Given the description of an element on the screen output the (x, y) to click on. 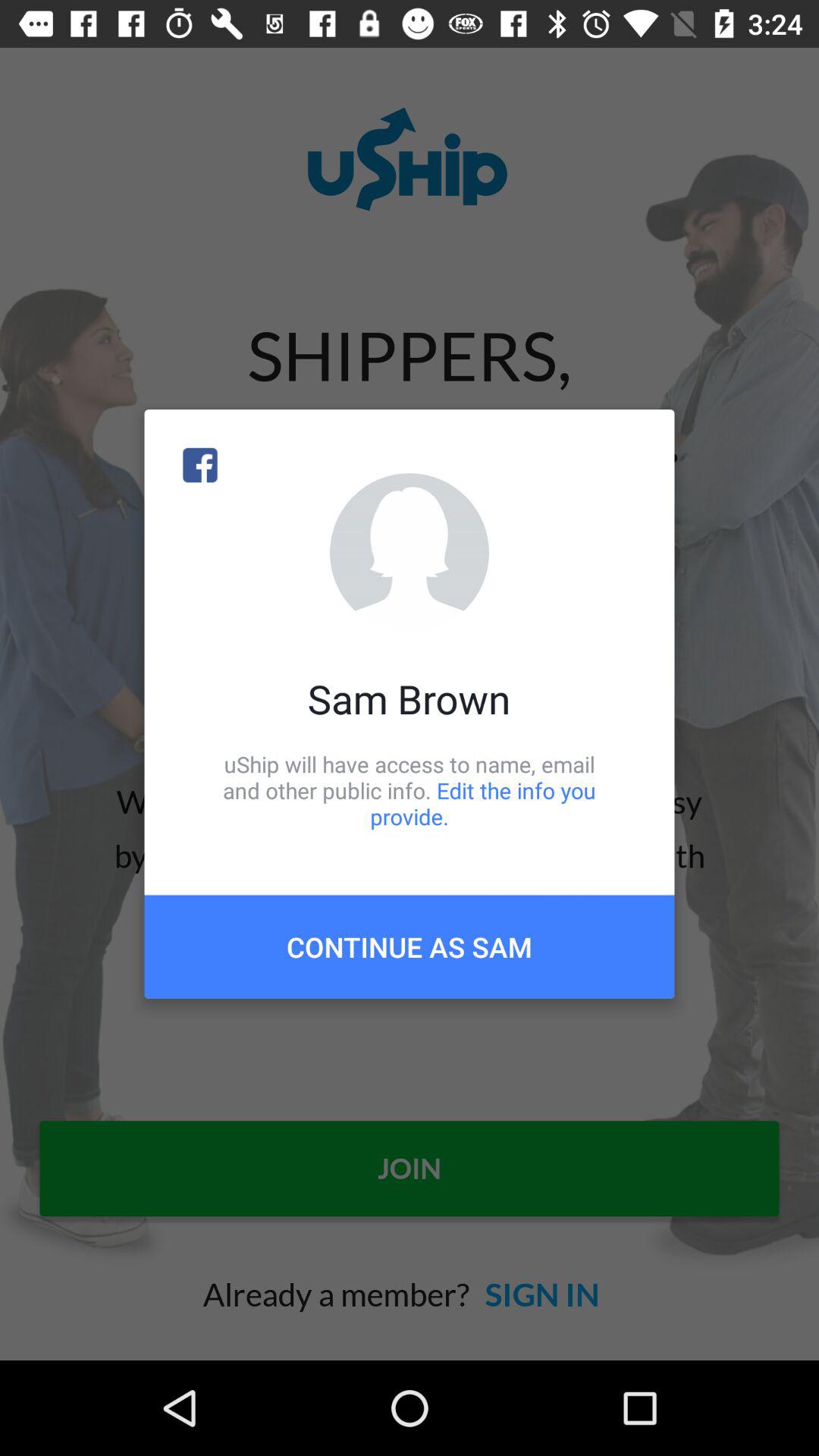
choose icon below sam brown (409, 790)
